Given the description of an element on the screen output the (x, y) to click on. 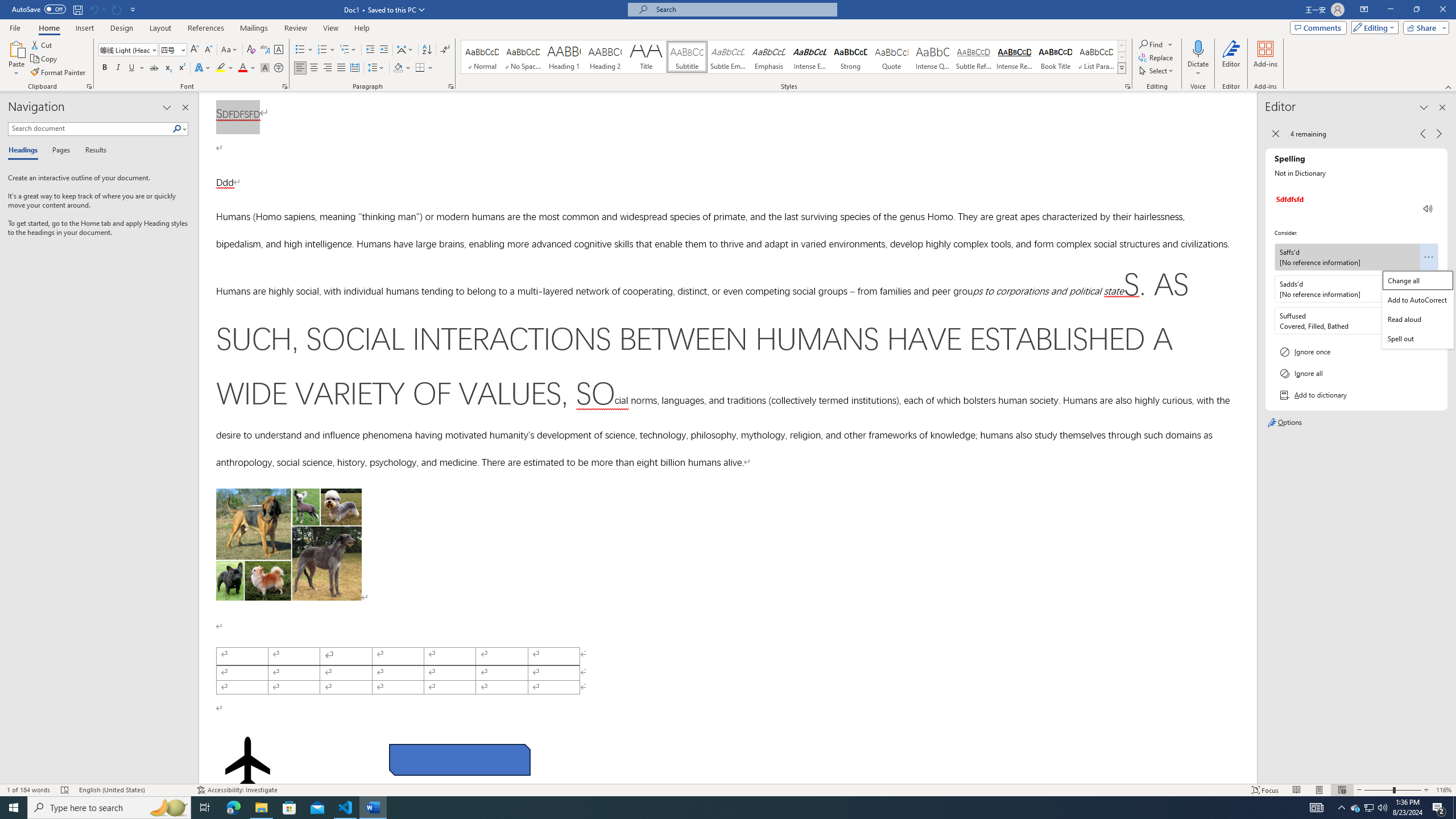
Can't Undo (92, 9)
Airplane with solid fill (247, 762)
Subtle Reference (973, 56)
Strong (849, 56)
Intense Emphasis (809, 56)
